Given the description of an element on the screen output the (x, y) to click on. 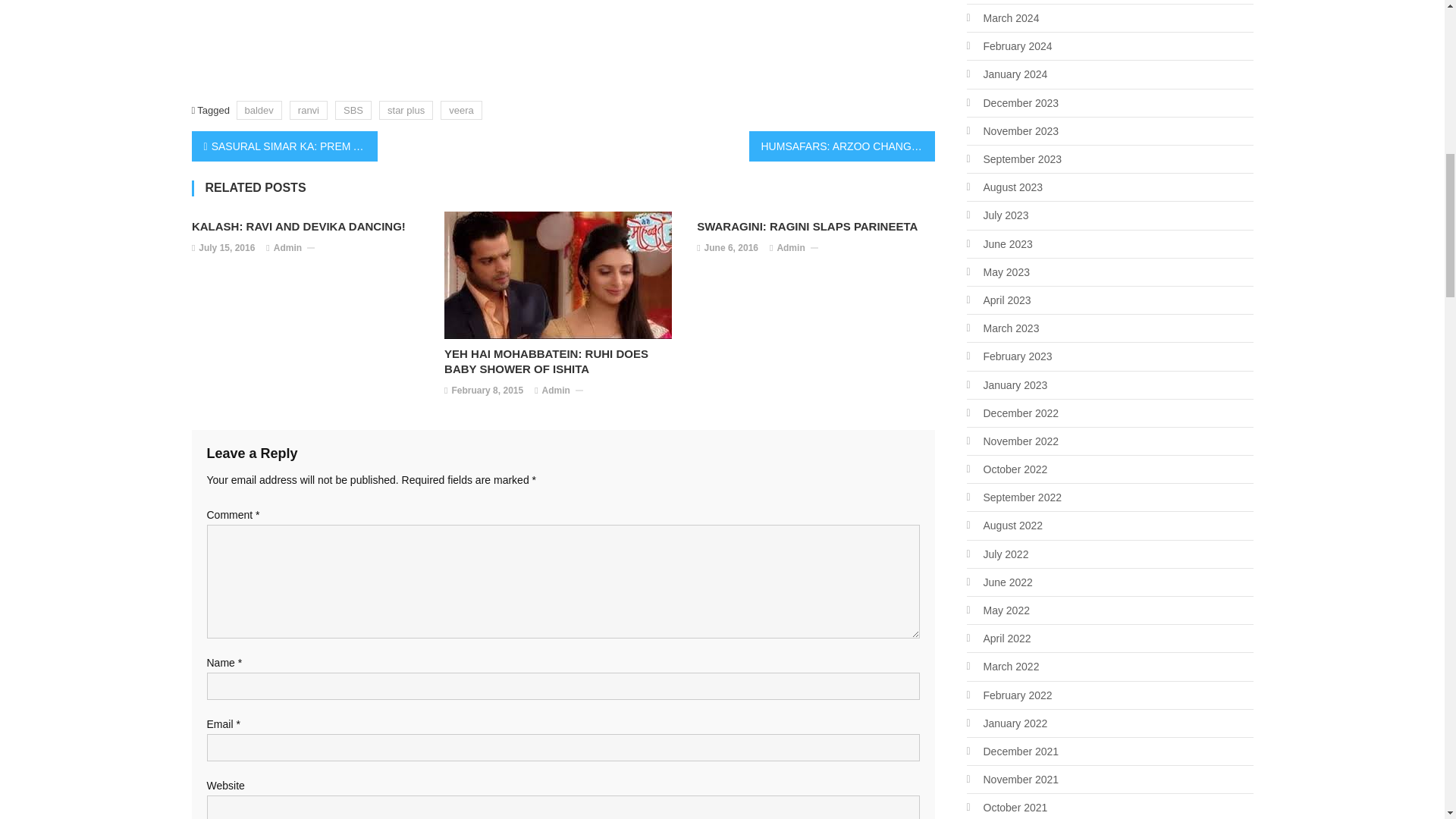
veera (461, 109)
February 8, 2015 (486, 391)
KALASH: RAVI AND DEVIKA DANCING! (310, 226)
Admin (287, 248)
June 6, 2016 (731, 248)
SASURAL SIMAR KA: PREM ABDUCTED (283, 146)
Admin (790, 248)
Admin (555, 391)
HUMSAFARS: ARZOO CHANGED HER PROFESSION TO NEWS REPORTER (841, 146)
ranvi (308, 109)
SWARAGINI: RAGINI SLAPS PARINEETA (815, 226)
SBS (352, 109)
baldev (258, 109)
YEH HAI MOHABBATEIN: RUHI DOES BABY SHOWER OF ISHITA (562, 361)
July 15, 2016 (226, 248)
